Given the description of an element on the screen output the (x, y) to click on. 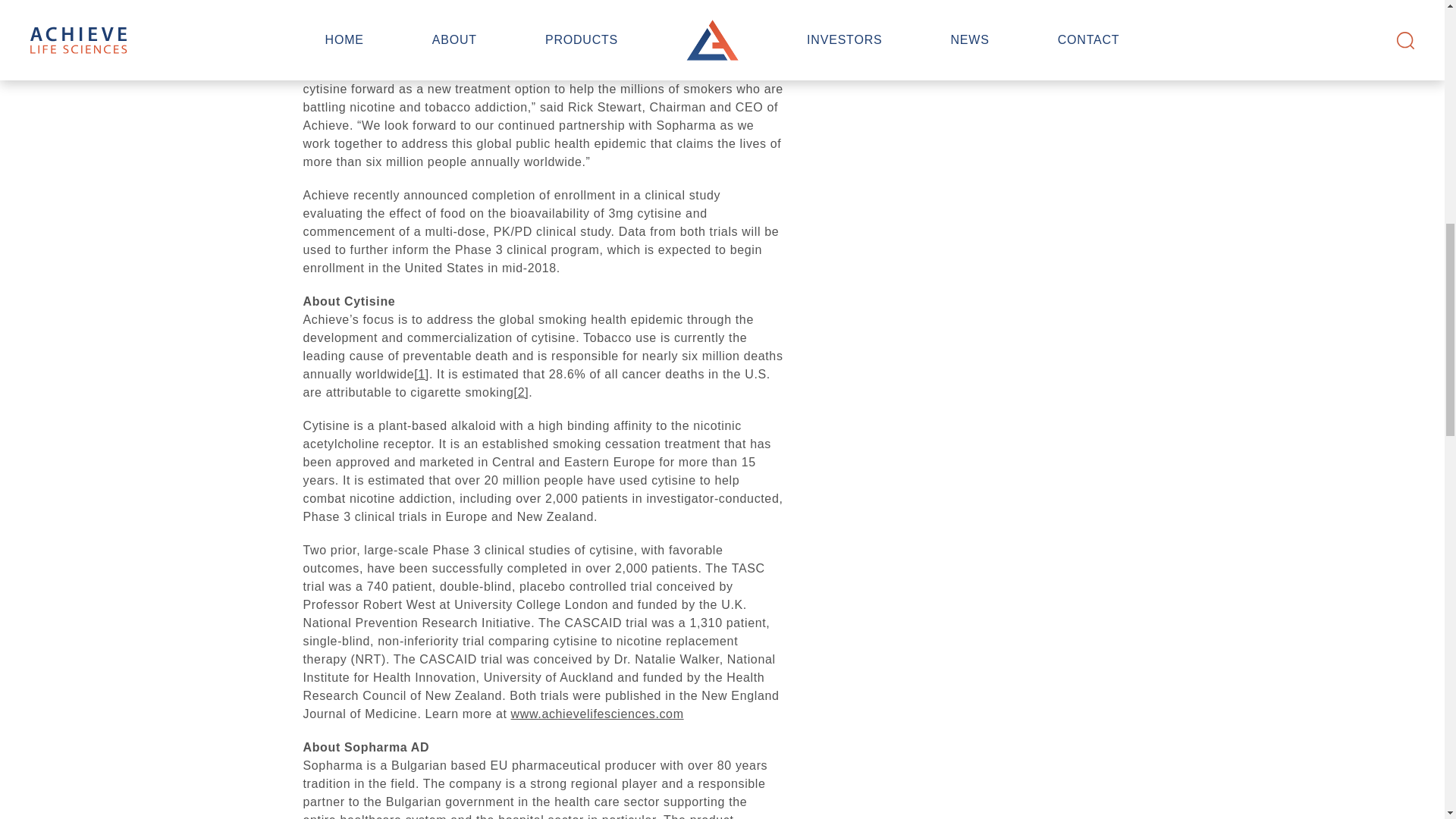
www.achievelifesciences.com (597, 714)
